Given the description of an element on the screen output the (x, y) to click on. 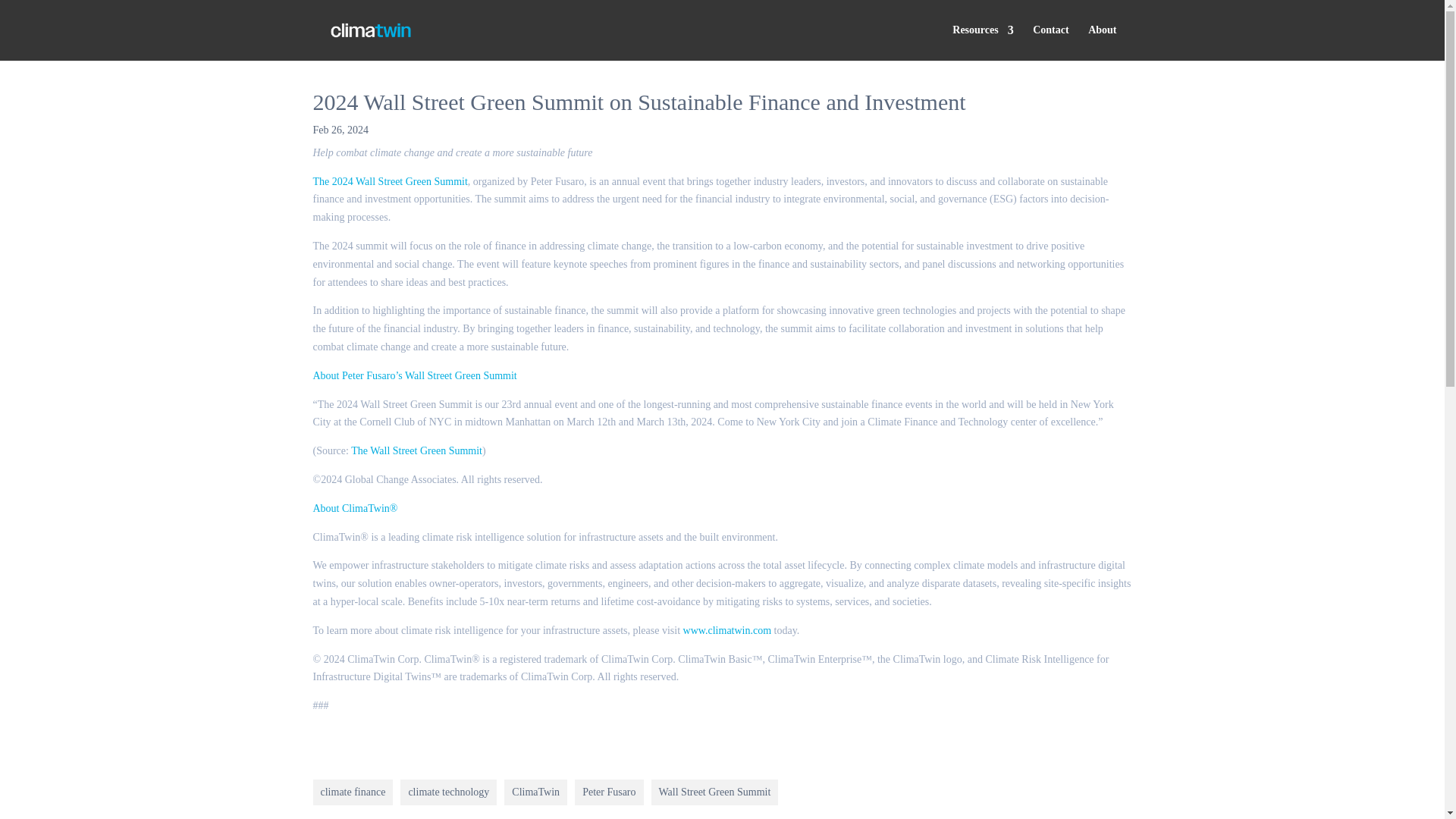
www.climatwin.com (726, 630)
Resources (982, 42)
Wall Street Green Summit (714, 792)
Contact (1050, 42)
The 2024 Wall Street Green Summit (390, 181)
climate finance (353, 792)
ClimaTwin (535, 792)
Peter Fusaro (609, 792)
The Wall Street Green Summit (415, 450)
climate technology (448, 792)
